Given the description of an element on the screen output the (x, y) to click on. 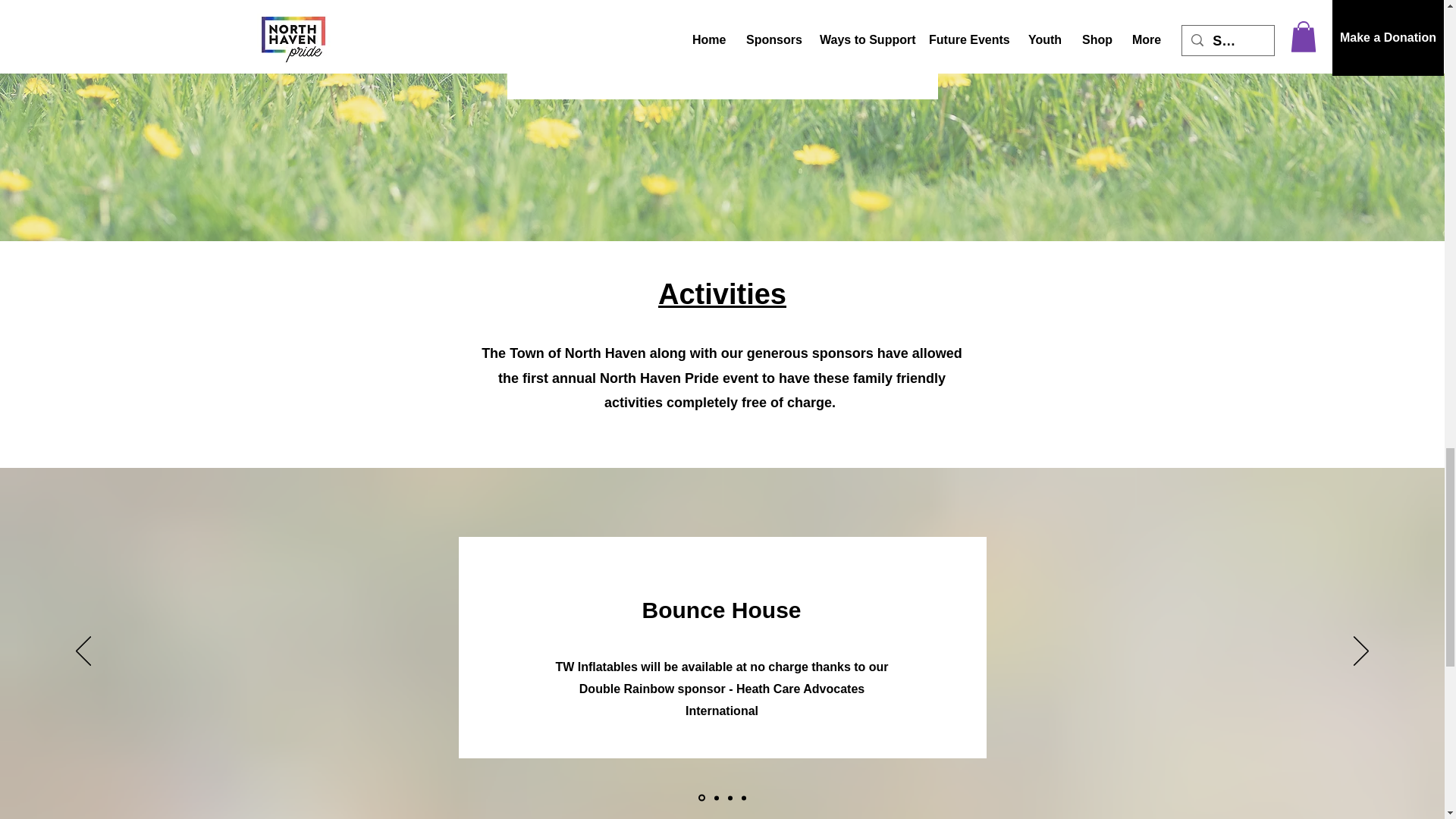
Activities (722, 294)
